Given the description of an element on the screen output the (x, y) to click on. 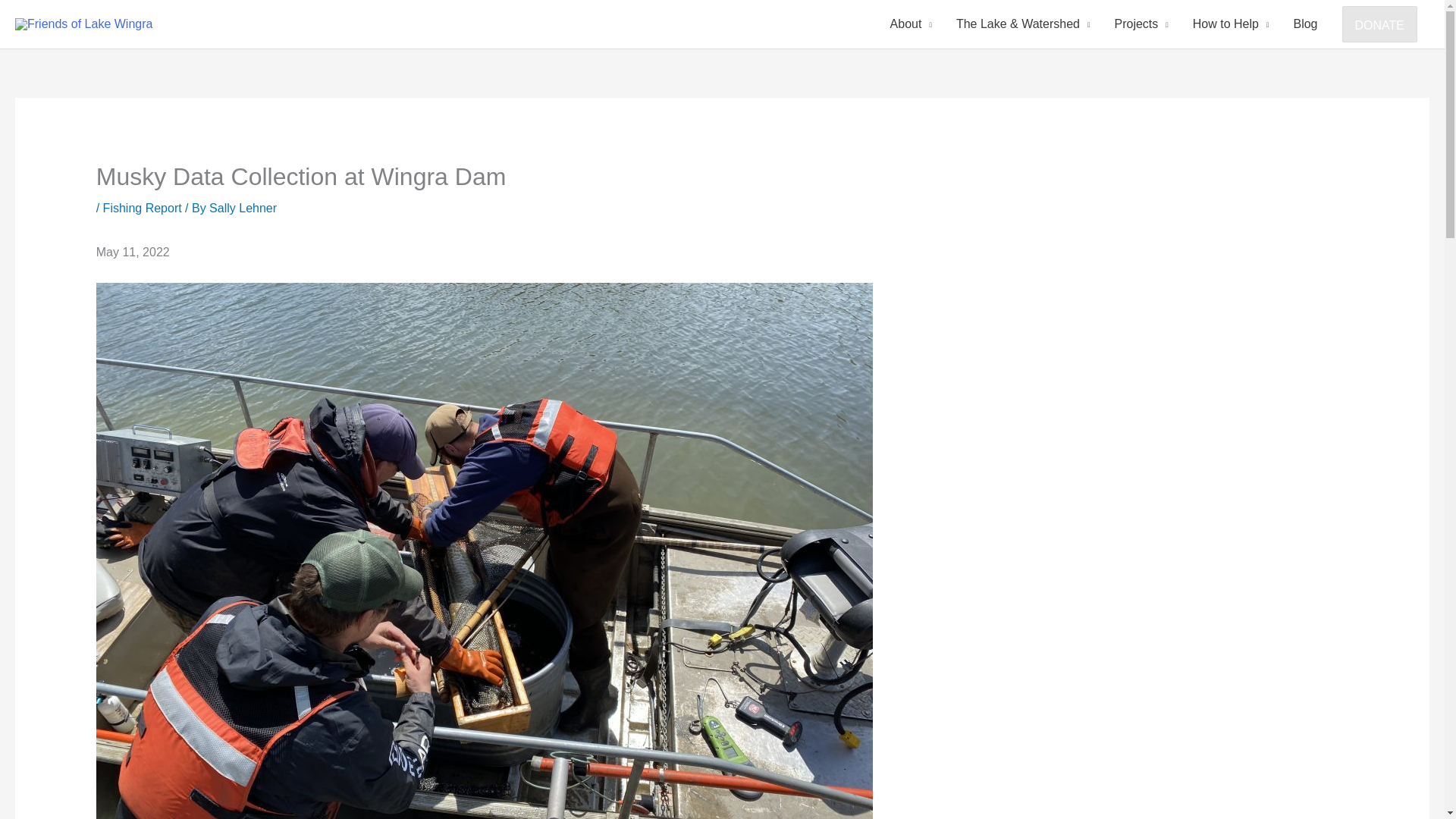
DONATE (1379, 23)
View all posts by Sally Lehner (242, 207)
About (910, 24)
Blog (1305, 24)
Sally Lehner (242, 207)
DONATE (1379, 24)
Projects (1141, 24)
Fishing Report (142, 207)
How to Help (1230, 24)
